Given the description of an element on the screen output the (x, y) to click on. 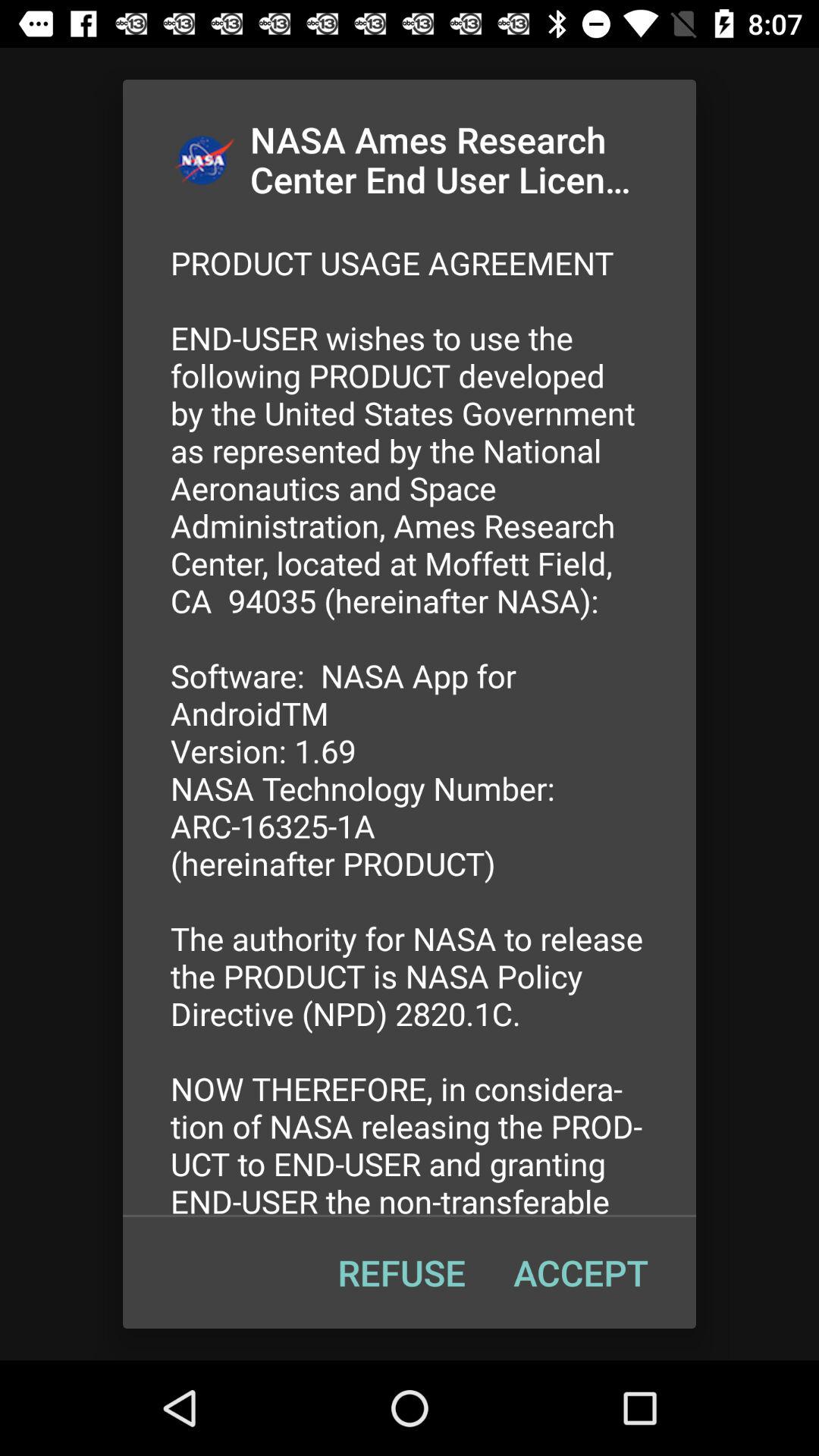
swipe until the accept item (580, 1272)
